Given the description of an element on the screen output the (x, y) to click on. 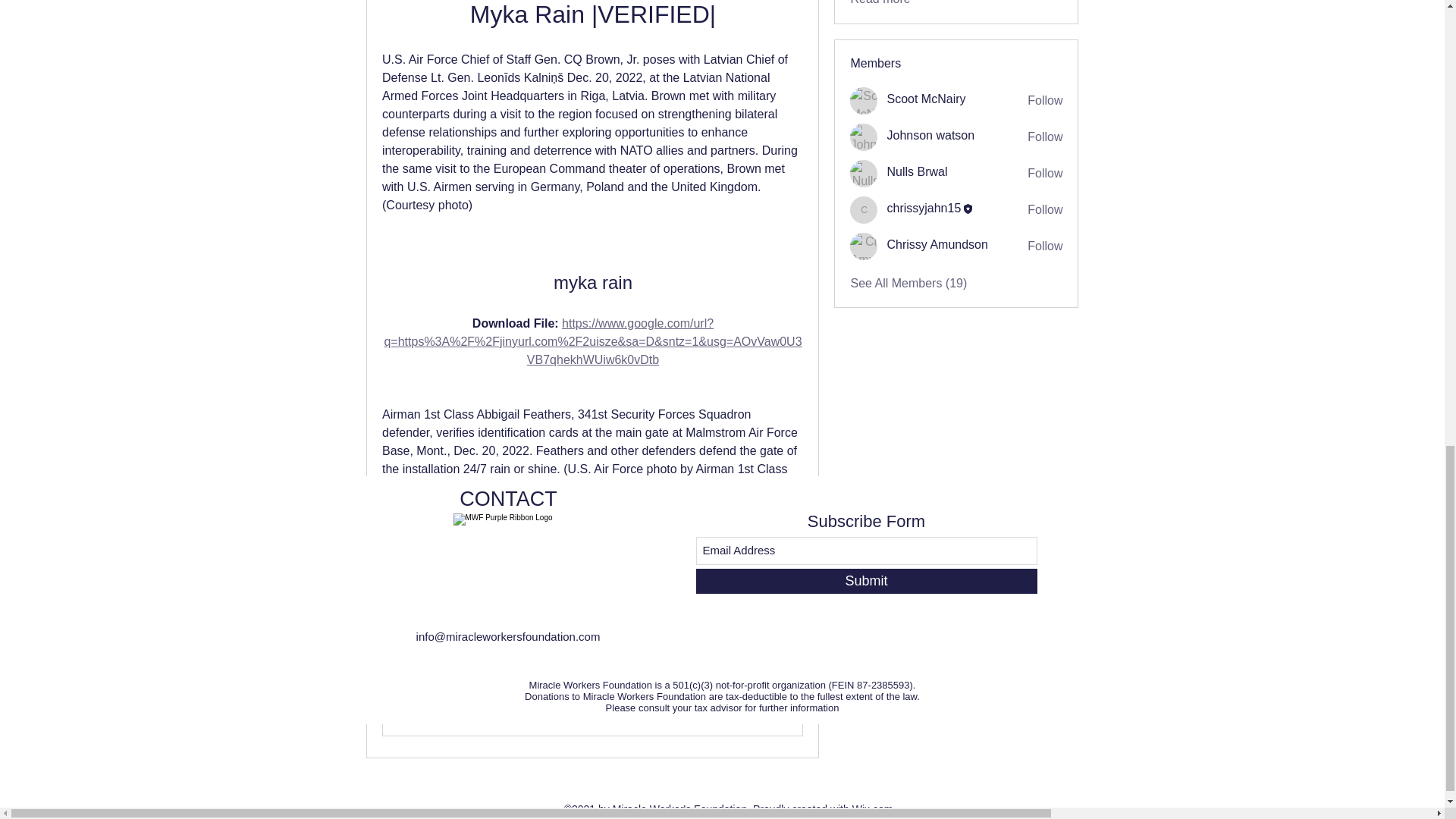
Read more (880, 3)
0 Comments (772, 667)
Follow (1044, 100)
Scoot McNairy (925, 98)
Nulls Brwal (916, 171)
Chrissy Amundson (863, 246)
Nulls Brwal (863, 173)
Follow (1044, 173)
Scoot McNairy (925, 98)
Scoot McNairy (863, 100)
